Given the description of an element on the screen output the (x, y) to click on. 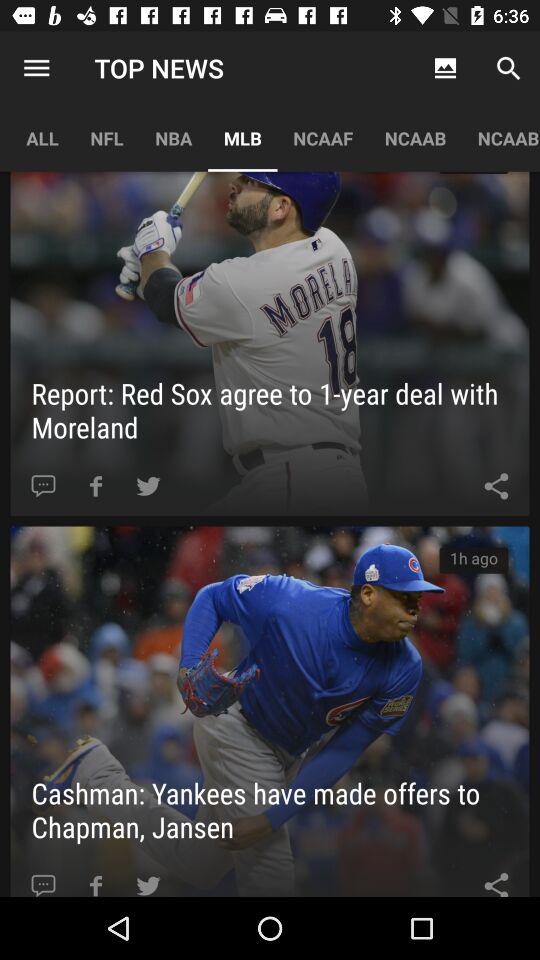
select item next to mlb (323, 138)
